Given the description of an element on the screen output the (x, y) to click on. 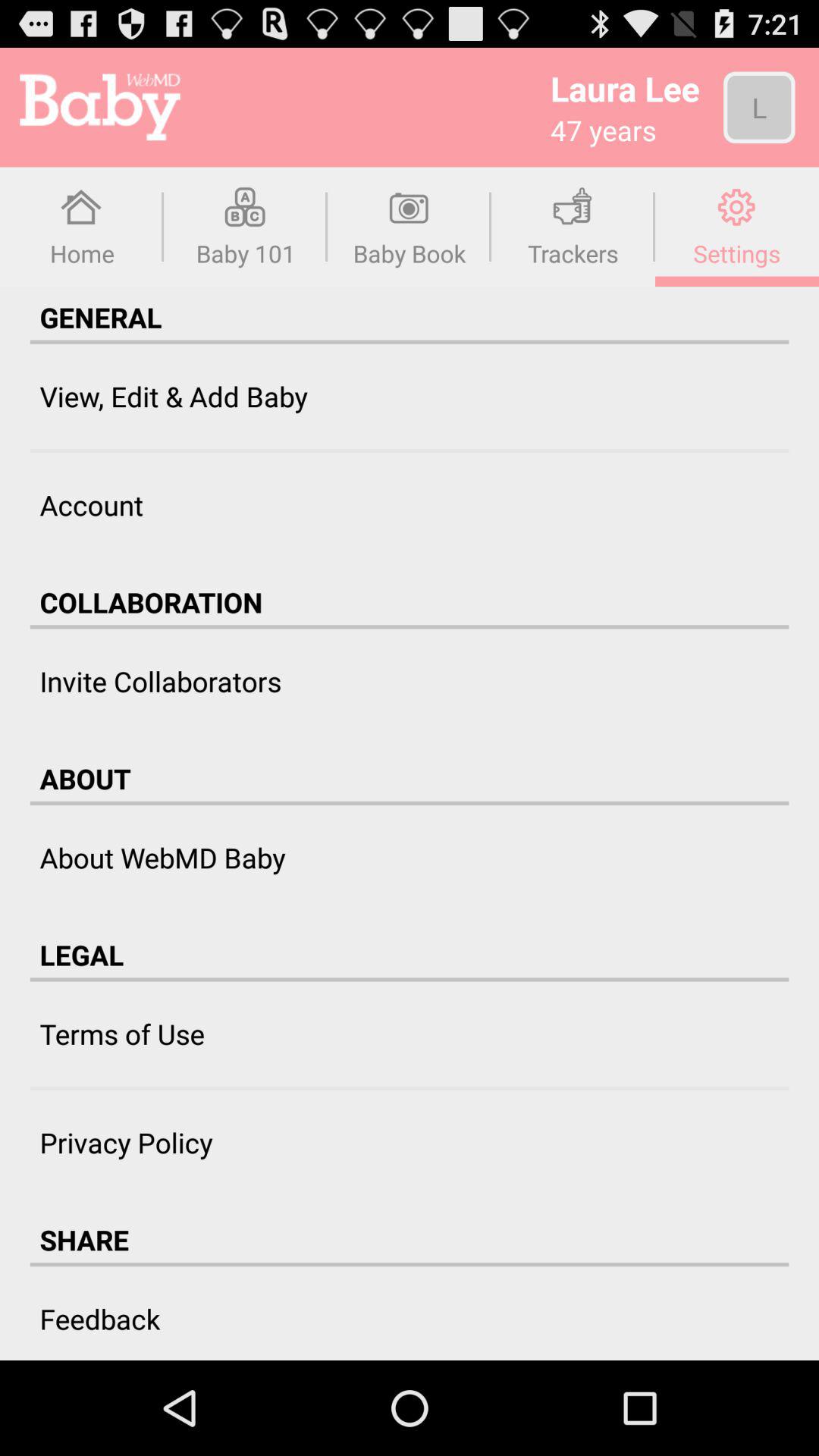
open feedback (99, 1318)
